Given the description of an element on the screen output the (x, y) to click on. 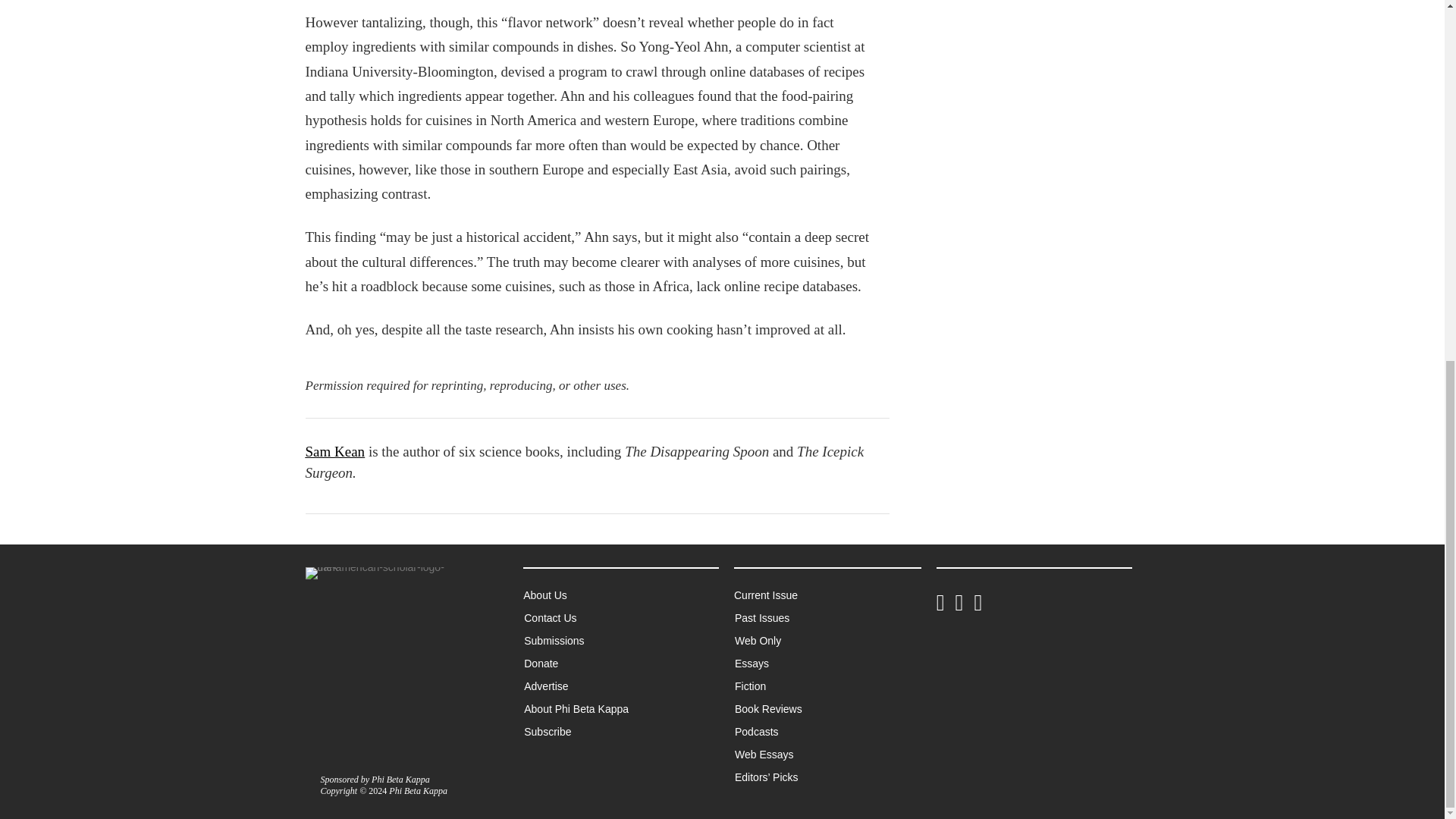
Donate (571, 662)
the-american-scholar-logo-dark (380, 573)
Advertise (576, 685)
Submissions (584, 640)
Contact Us (580, 617)
Sam Kean (334, 451)
About Us (574, 594)
